Given the description of an element on the screen output the (x, y) to click on. 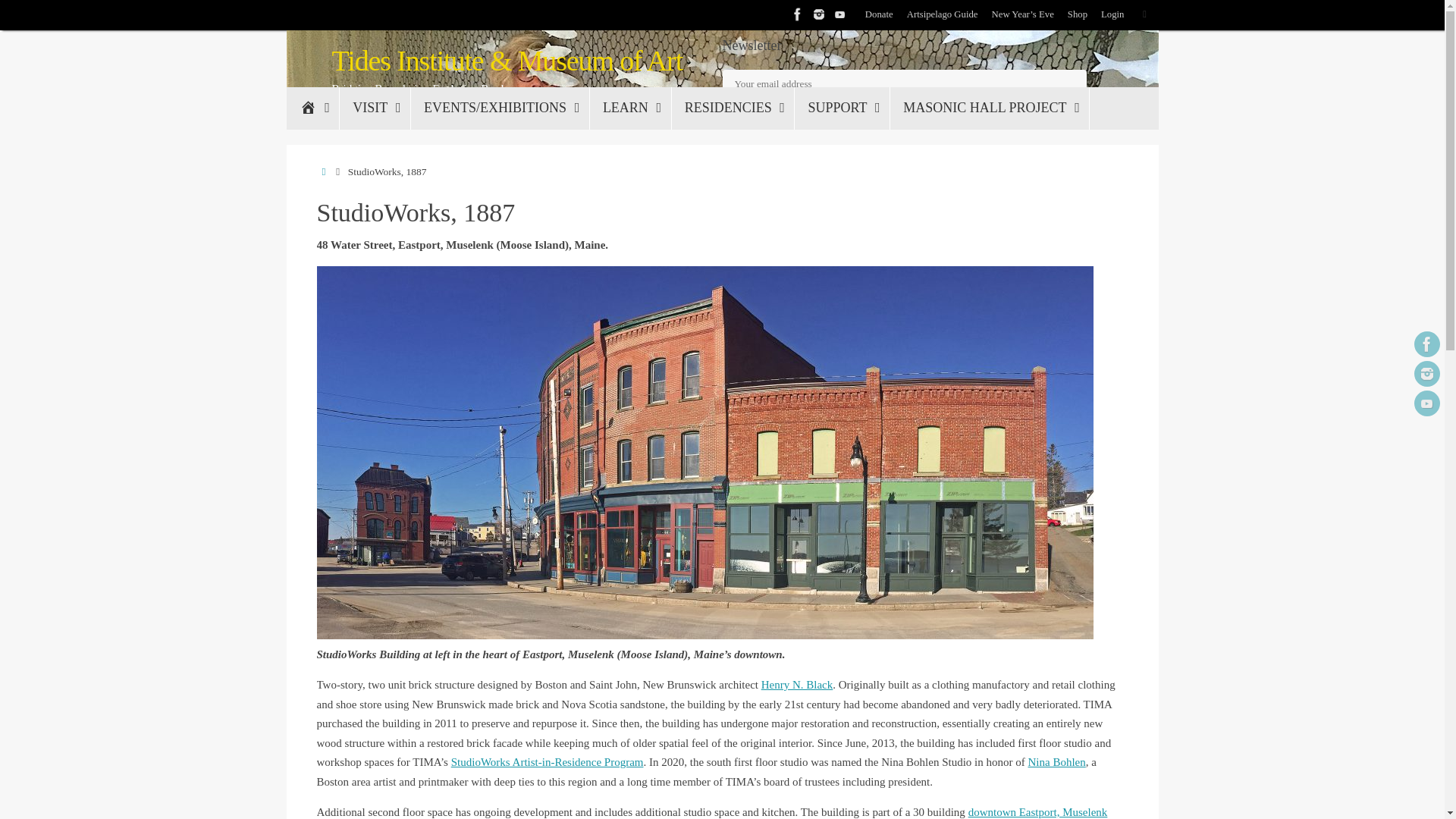
YouTube (839, 14)
Login (1111, 15)
Sign Up for Updates (787, 112)
LEARN (630, 107)
Facebook (797, 14)
Instagram (1426, 373)
Artsipelago Guide (942, 15)
Facebook (1426, 344)
VISIT (374, 107)
YouTube (1426, 403)
RESIDENCIES (732, 107)
HOME (312, 107)
Instagram (818, 14)
Donate (878, 15)
